Given the description of an element on the screen output the (x, y) to click on. 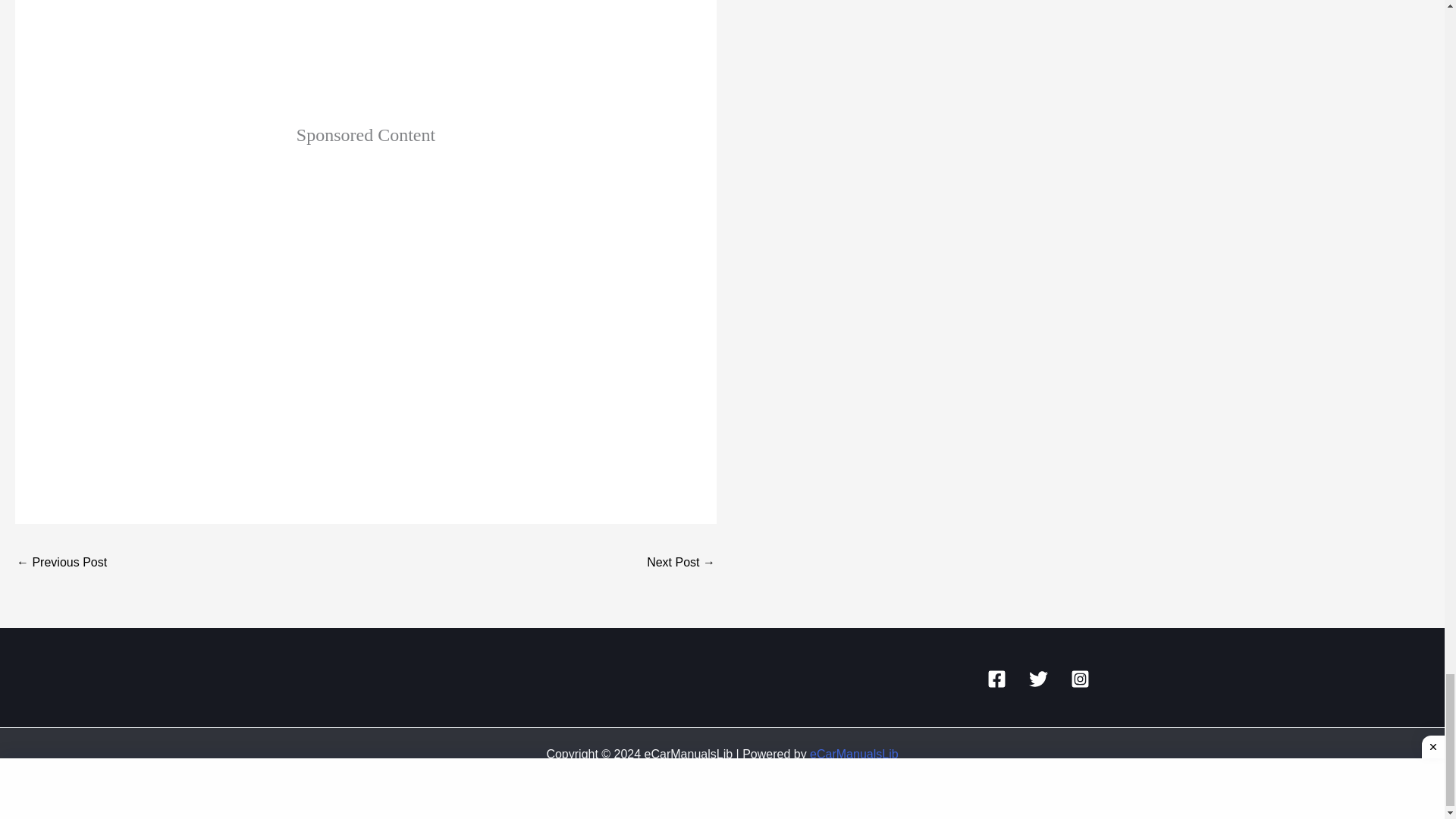
How to Clean the Garage Floor: Make Your Way (680, 563)
How to Clean Vomit from a Car - Best Guide (61, 563)
Easy Steering Wheel Cover Install (366, 55)
